Given the description of an element on the screen output the (x, y) to click on. 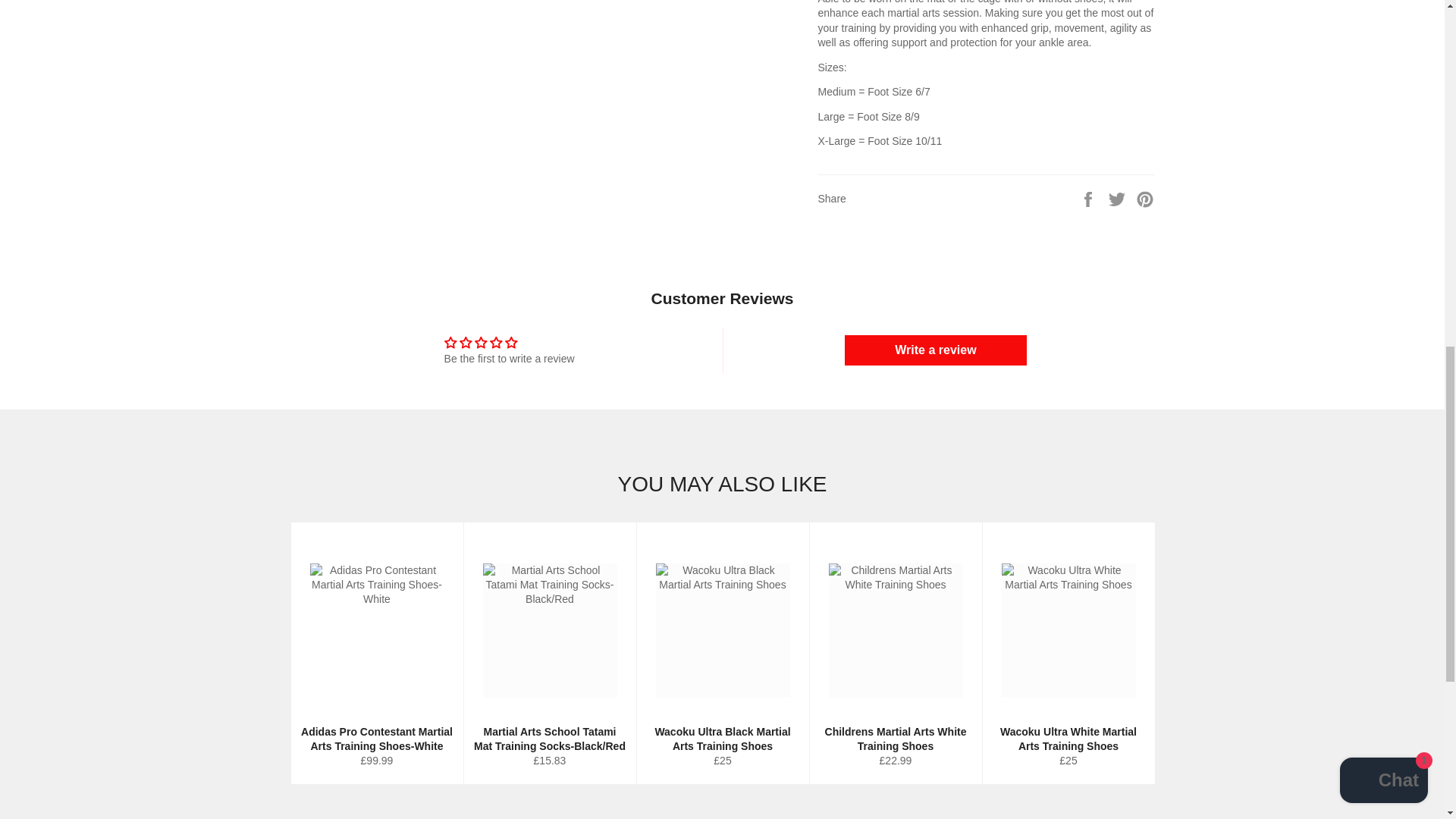
Tweet on Twitter (1118, 198)
Share on Facebook (1089, 198)
Pin on Pinterest (1144, 198)
